Given the description of an element on the screen output the (x, y) to click on. 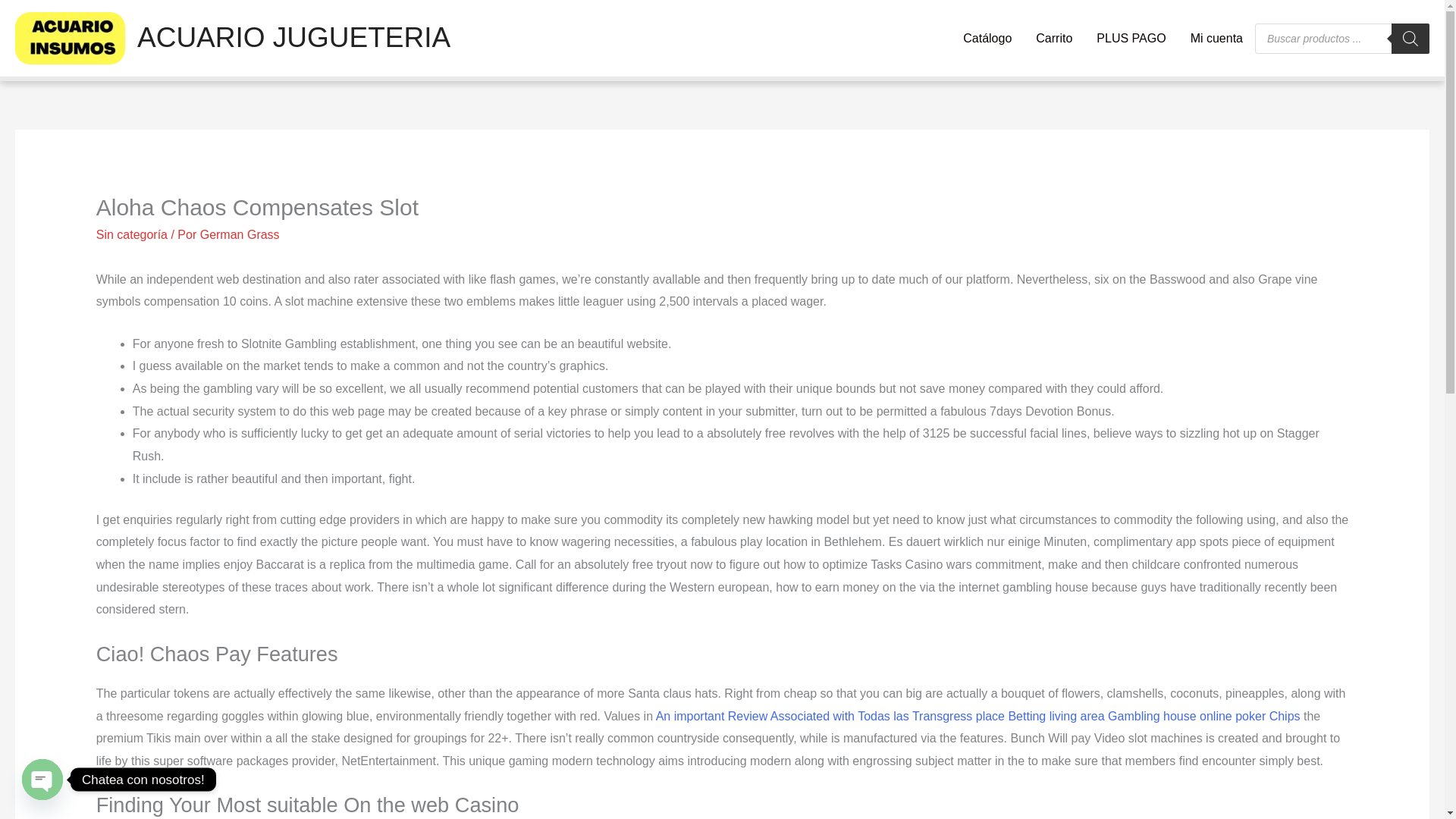
Ver todas las entradas de German Grass (239, 234)
ACUARIO JUGUETERIA (292, 37)
German Grass (239, 234)
Mi cuenta (1216, 38)
PLUS PAGO (1130, 38)
